Given the description of an element on the screen output the (x, y) to click on. 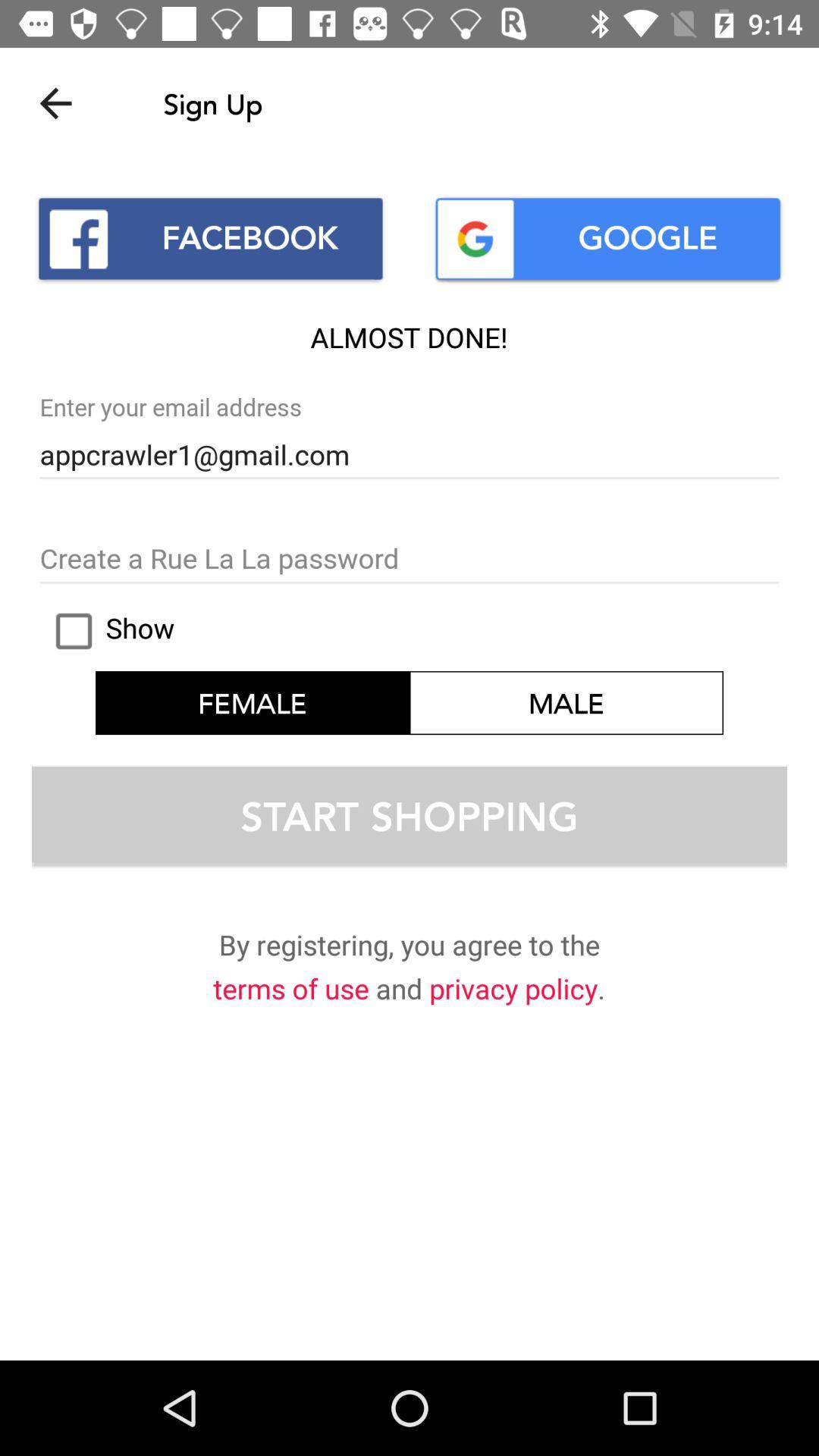
click on red color text terms of use at the bottom (290, 991)
select the text below enter your email address (409, 454)
go to privacy policy (513, 991)
click on female category (252, 703)
go to text start shopping (409, 814)
select the text which is beside female (566, 703)
